Given the description of an element on the screen output the (x, y) to click on. 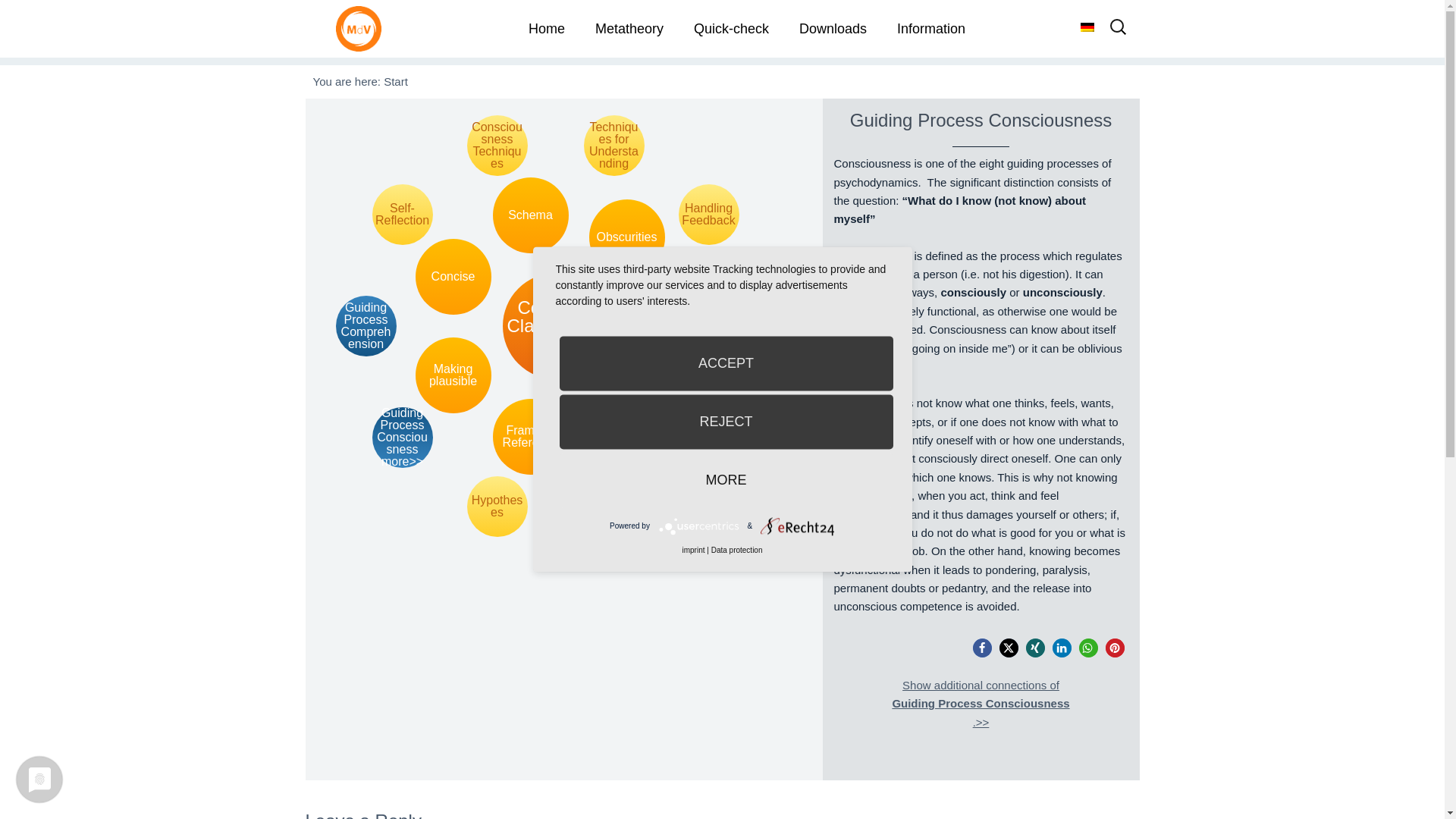
Home (546, 28)
Metatheory (628, 28)
Development of Self-Support (744, 325)
Quick-check (731, 28)
Downloads (833, 28)
Function of Understanding (708, 437)
Cognitive Classification (555, 325)
Hermeneutic Method (614, 506)
Search (42, 18)
Search for: (1118, 31)
Information (930, 28)
